Given the description of an element on the screen output the (x, y) to click on. 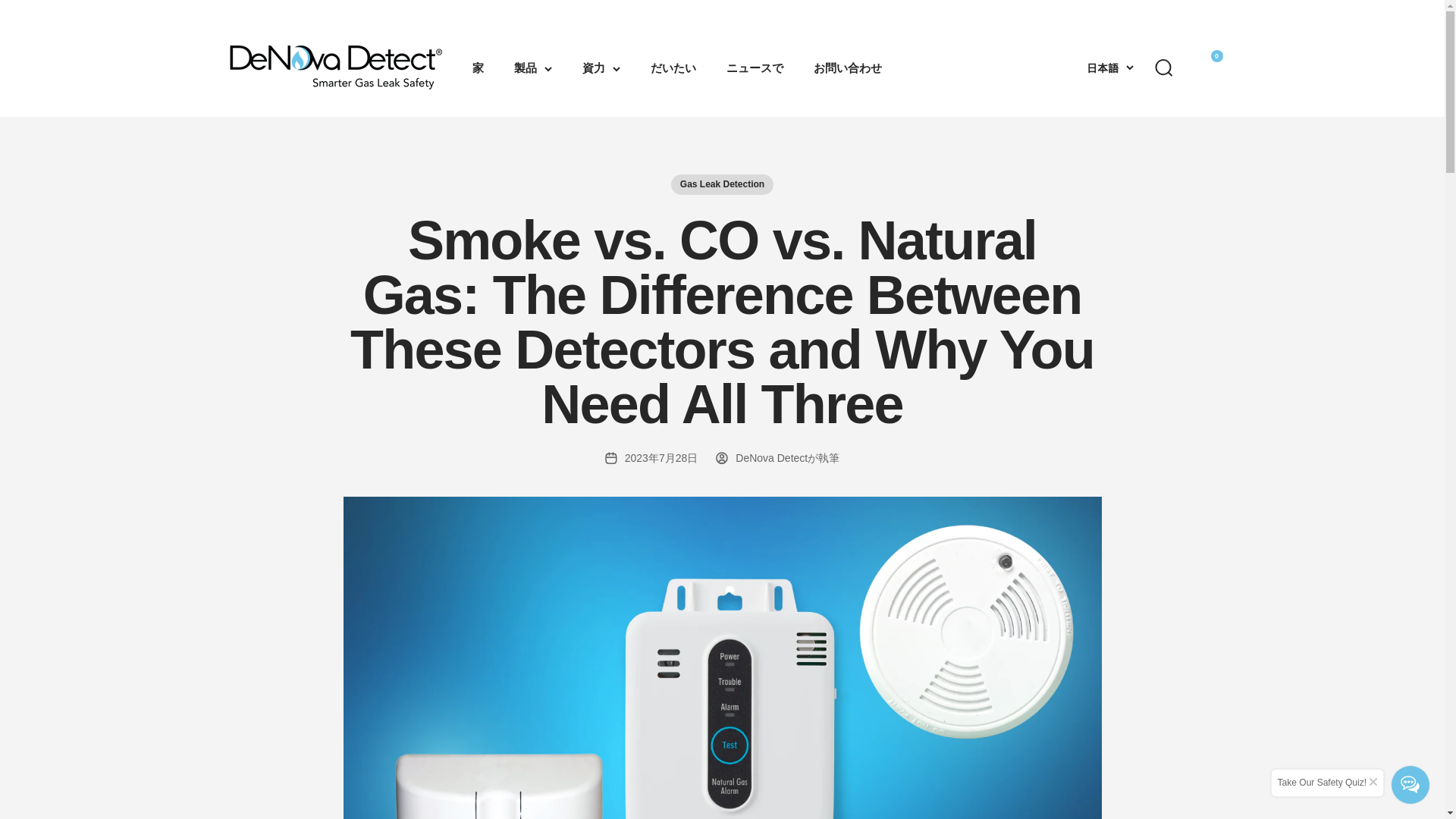
New Cosmos U.S.A (334, 67)
Gas Leak Detection (722, 184)
